Given the description of an element on the screen output the (x, y) to click on. 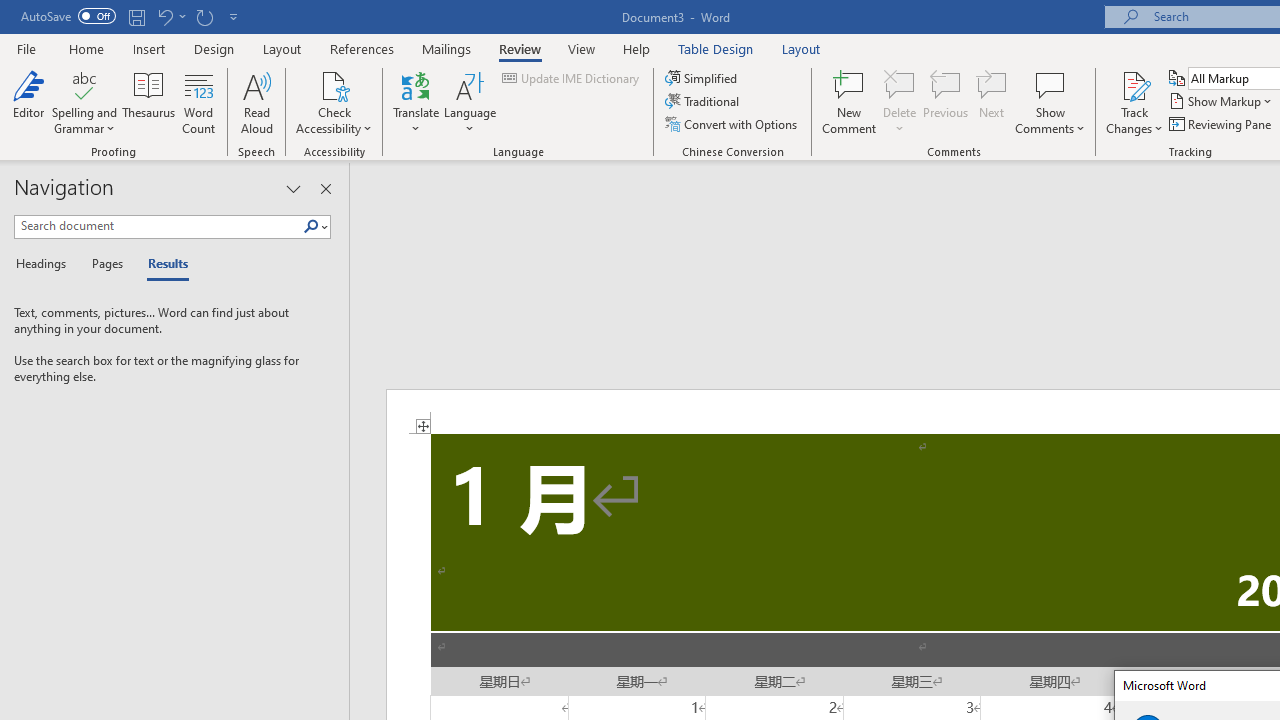
Update IME Dictionary... (572, 78)
Language (470, 102)
Traditional (703, 101)
Spelling and Grammar (84, 84)
Thesaurus... (148, 102)
Word Count (198, 102)
New Comment (849, 102)
Show Markup (1222, 101)
